Given the description of an element on the screen output the (x, y) to click on. 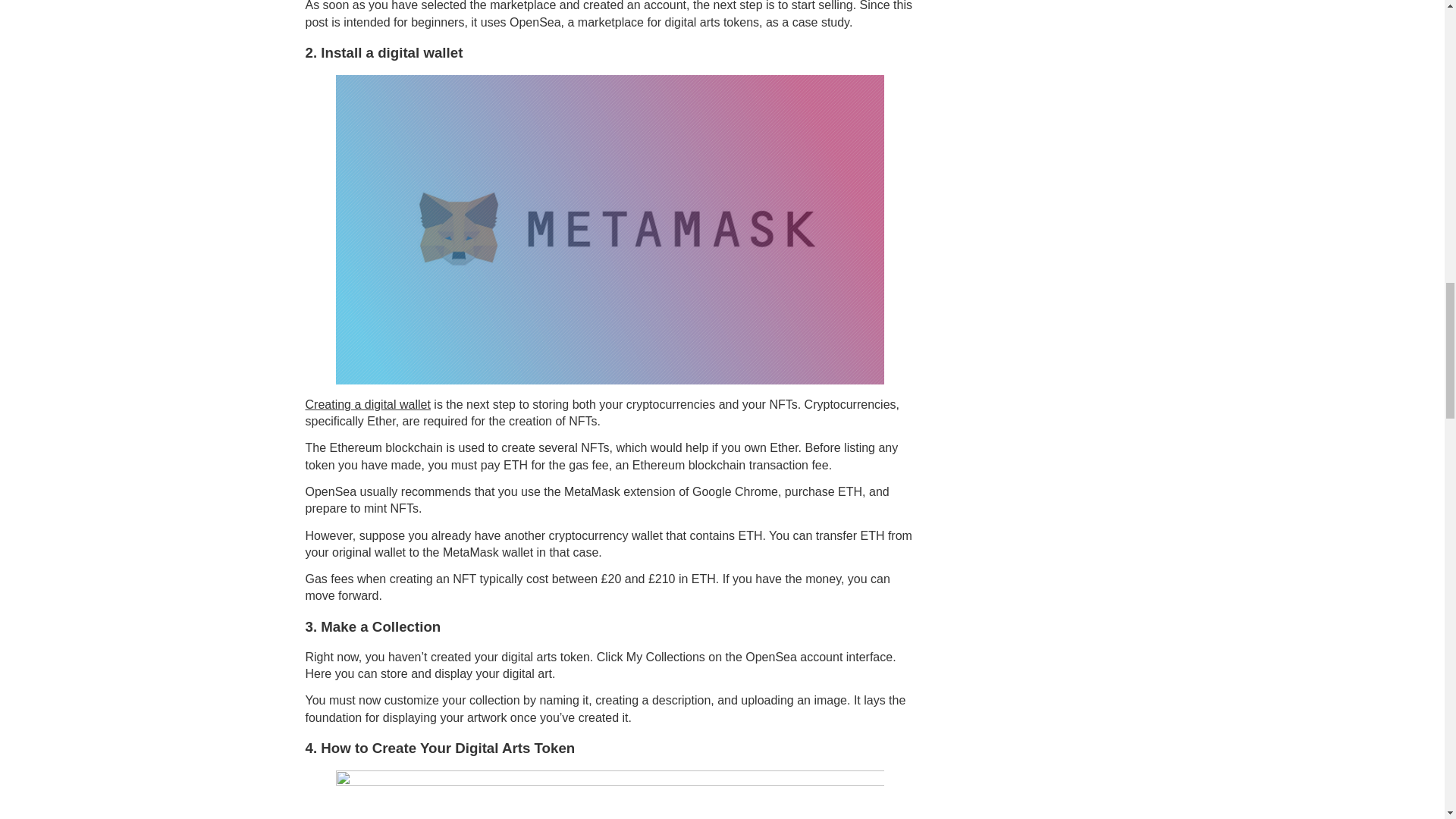
Creating a digital wallet (366, 404)
